Given the description of an element on the screen output the (x, y) to click on. 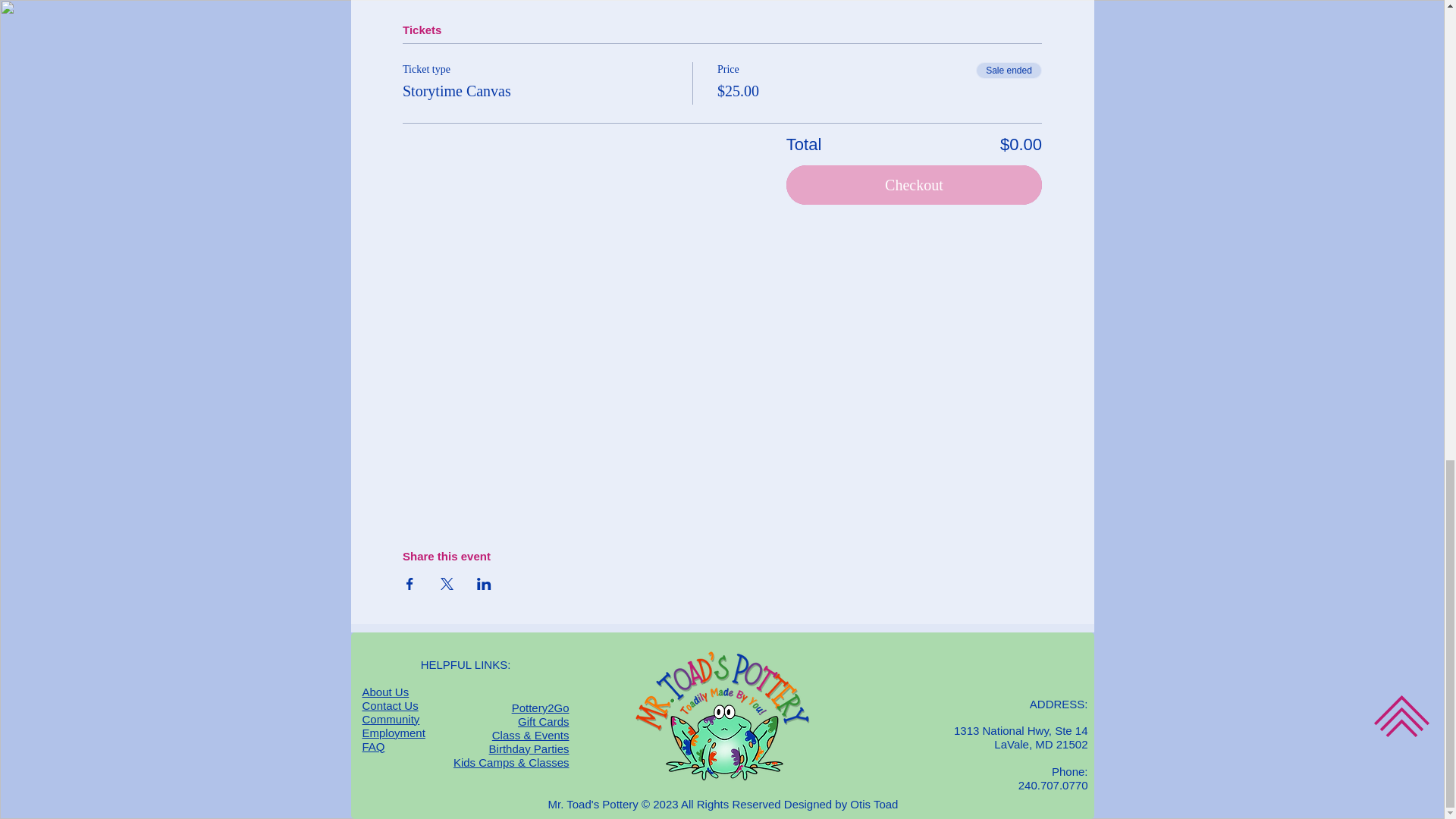
Community (391, 719)
About Us (385, 692)
Checkout (914, 184)
FAQ (373, 746)
Employment (393, 733)
Contact Us (390, 705)
Pottery2Go (540, 707)
Gift Cards (543, 721)
Birthday Parties (529, 748)
